Given the description of an element on the screen output the (x, y) to click on. 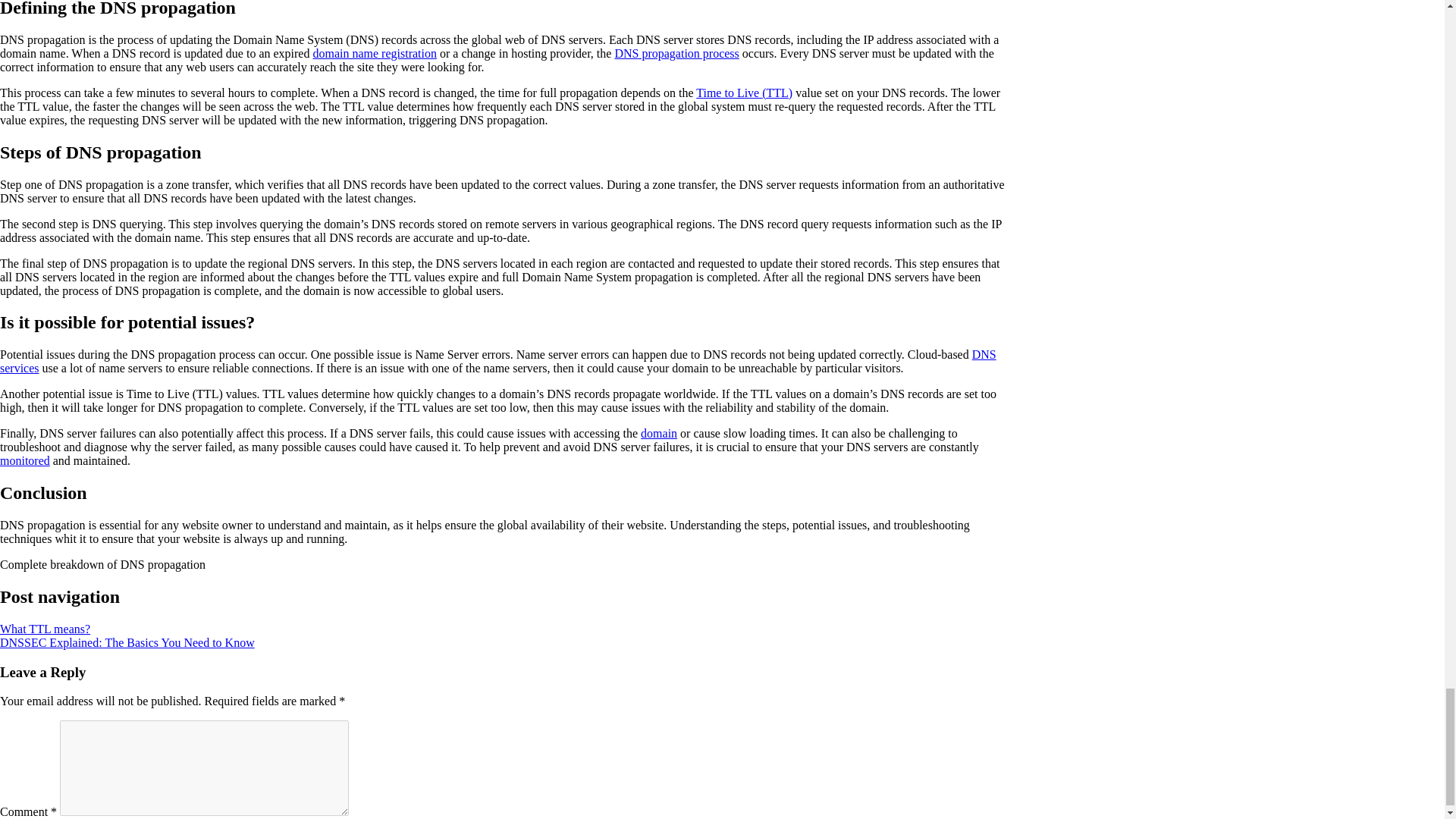
DNS propagation process (676, 52)
What TTL means? (45, 628)
domain name registration (374, 52)
domain (658, 432)
DNSSEC Explained: The Basics You Need to Know (127, 642)
monitored (24, 460)
DNS services (497, 361)
